Given the description of an element on the screen output the (x, y) to click on. 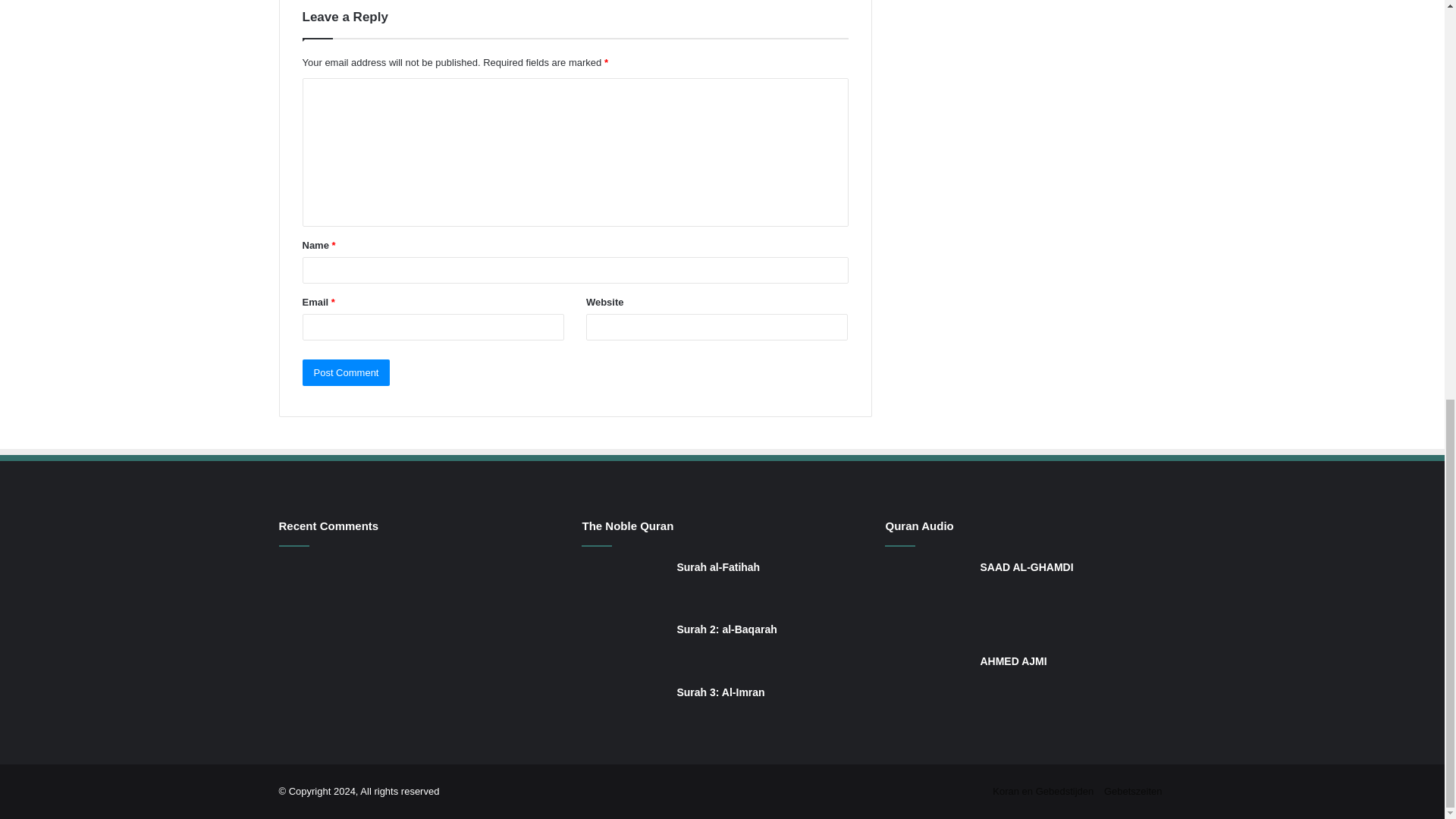
002 - Al-Quran.ca (622, 648)
fatiha - Al-Quran.ca (622, 586)
saad-alghamedi-150x150 - Al-Quran.ca (926, 601)
003 - Al-Quran.ca (622, 711)
Post Comment (345, 372)
ahmed-bin-ali-alajmi-150x150 - Al-Quran.ca (926, 695)
